Given the description of an element on the screen output the (x, y) to click on. 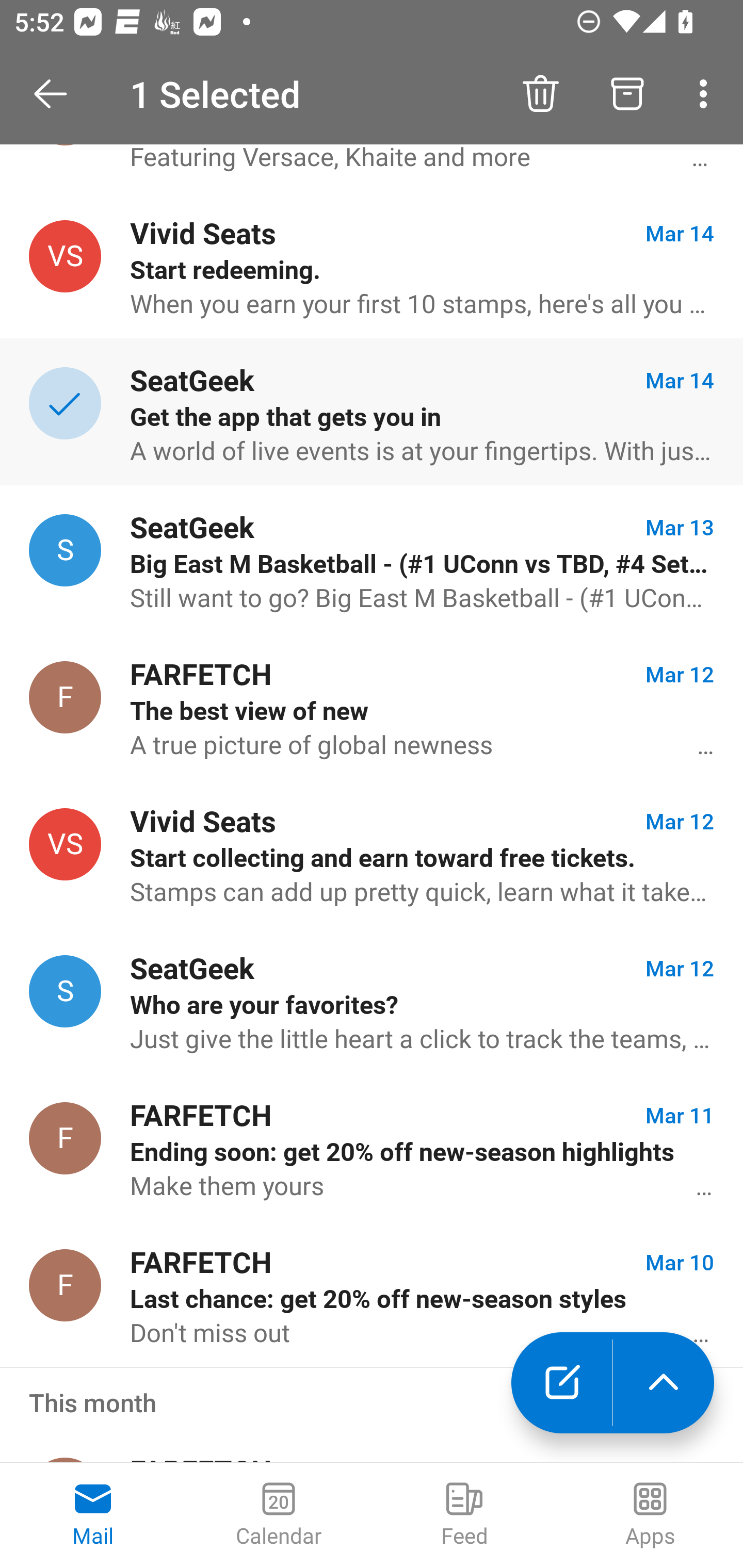
Delete (540, 93)
Archive (626, 93)
More options (706, 93)
Open Navigation Drawer (57, 94)
Vivid Seats, tickets@live.vividseats.com (64, 256)
SeatGeek, events@seatgeek.com (64, 550)
FARFETCH, farfetch@email.farfetch.com (64, 697)
Vivid Seats, tickets@live.vividseats.com (64, 844)
SeatGeek, events@seatgeek.com (64, 990)
FARFETCH, farfetch@email.farfetch.com (64, 1138)
FARFETCH, farfetch@email.farfetch.com (64, 1285)
New mail (561, 1382)
launch the extended action menu (663, 1382)
Calendar (278, 1515)
Feed (464, 1515)
Apps (650, 1515)
